Given the description of an element on the screen output the (x, y) to click on. 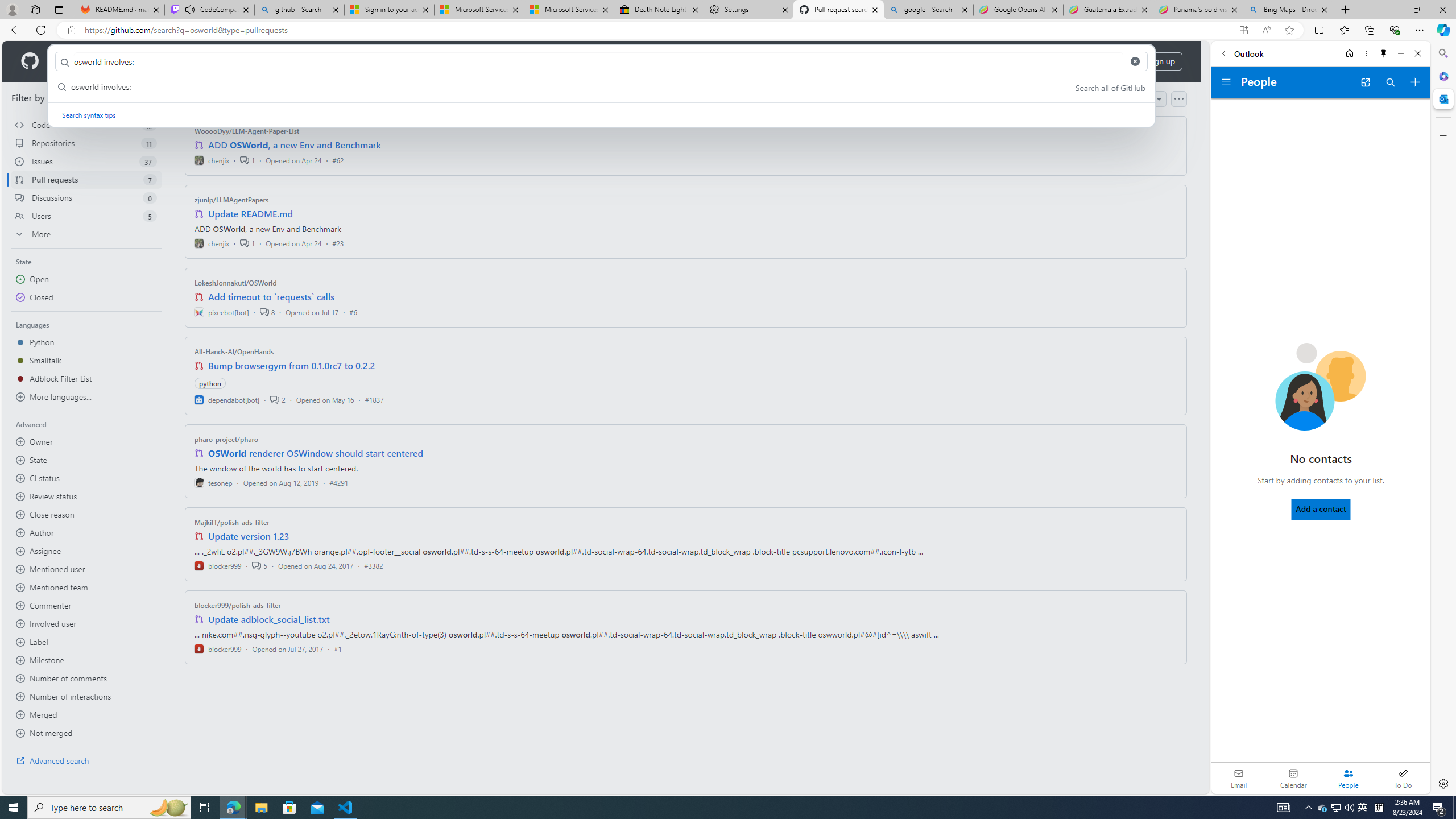
Advanced search (86, 760)
#6 (352, 311)
zjunlp/LLMAgentPapers (232, 199)
Pricing (368, 60)
